Given the description of an element on the screen output the (x, y) to click on. 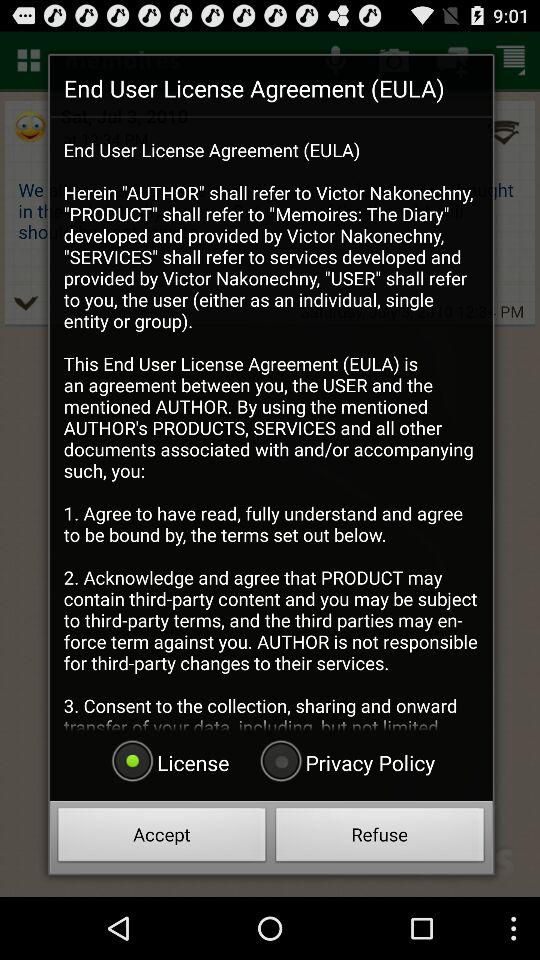
jump until privacy policy icon (345, 762)
